Given the description of an element on the screen output the (x, y) to click on. 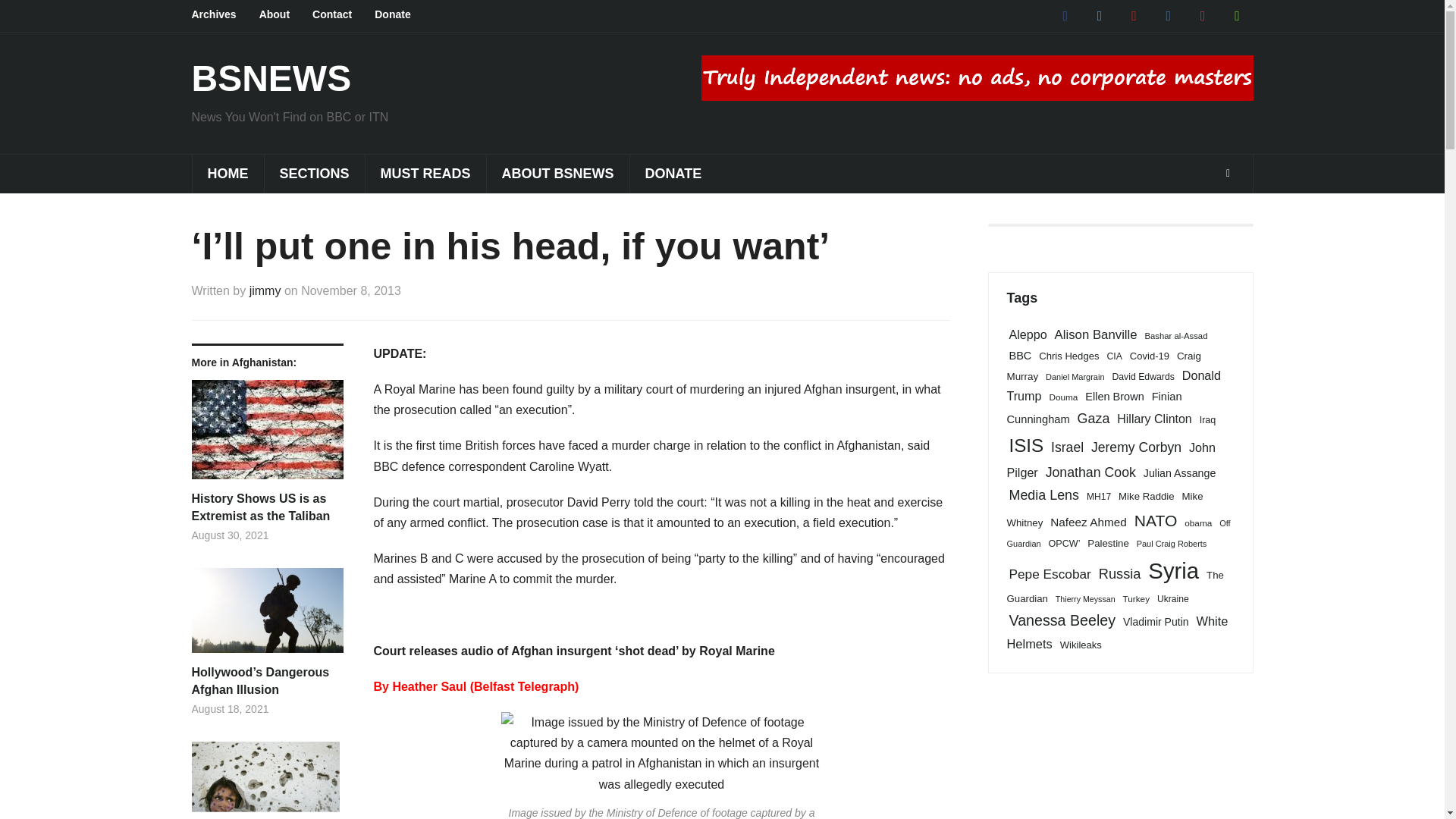
Facebook (1065, 14)
About (286, 15)
Permalink to History Shows US is as Extremist as the Taliban (266, 507)
Donate (403, 15)
vkontakte (1168, 14)
Search (1227, 173)
Archives (224, 15)
twitter (1099, 14)
Default Label (1236, 14)
wrench (1236, 14)
News You Won't Find on BBC or ITN (270, 78)
Contact (343, 15)
instagram (1202, 14)
Default Label (1168, 14)
facebook (1065, 14)
